Given the description of an element on the screen output the (x, y) to click on. 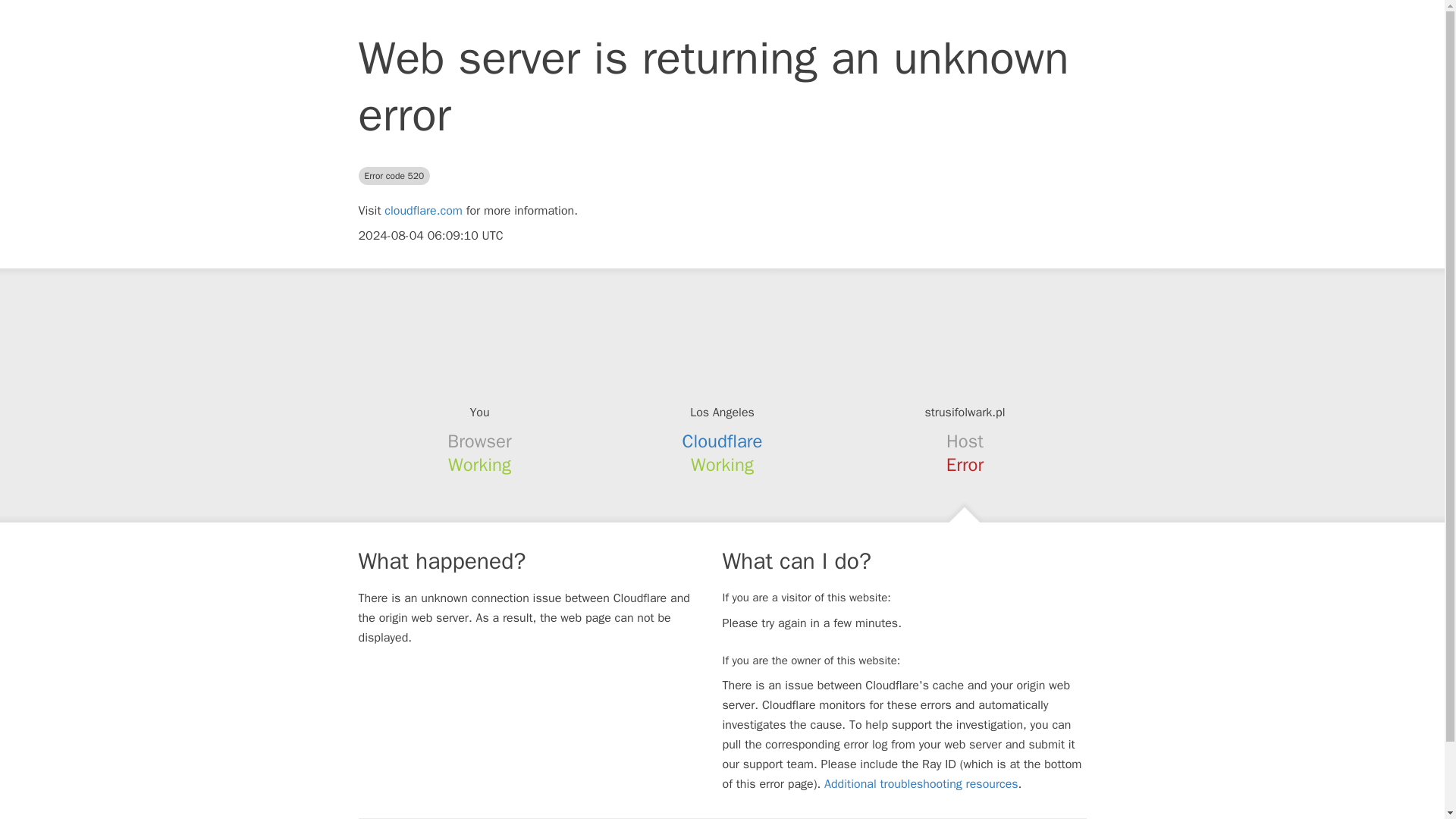
Additional troubleshooting resources (920, 783)
Cloudflare (722, 440)
cloudflare.com (423, 210)
